Given the description of an element on the screen output the (x, y) to click on. 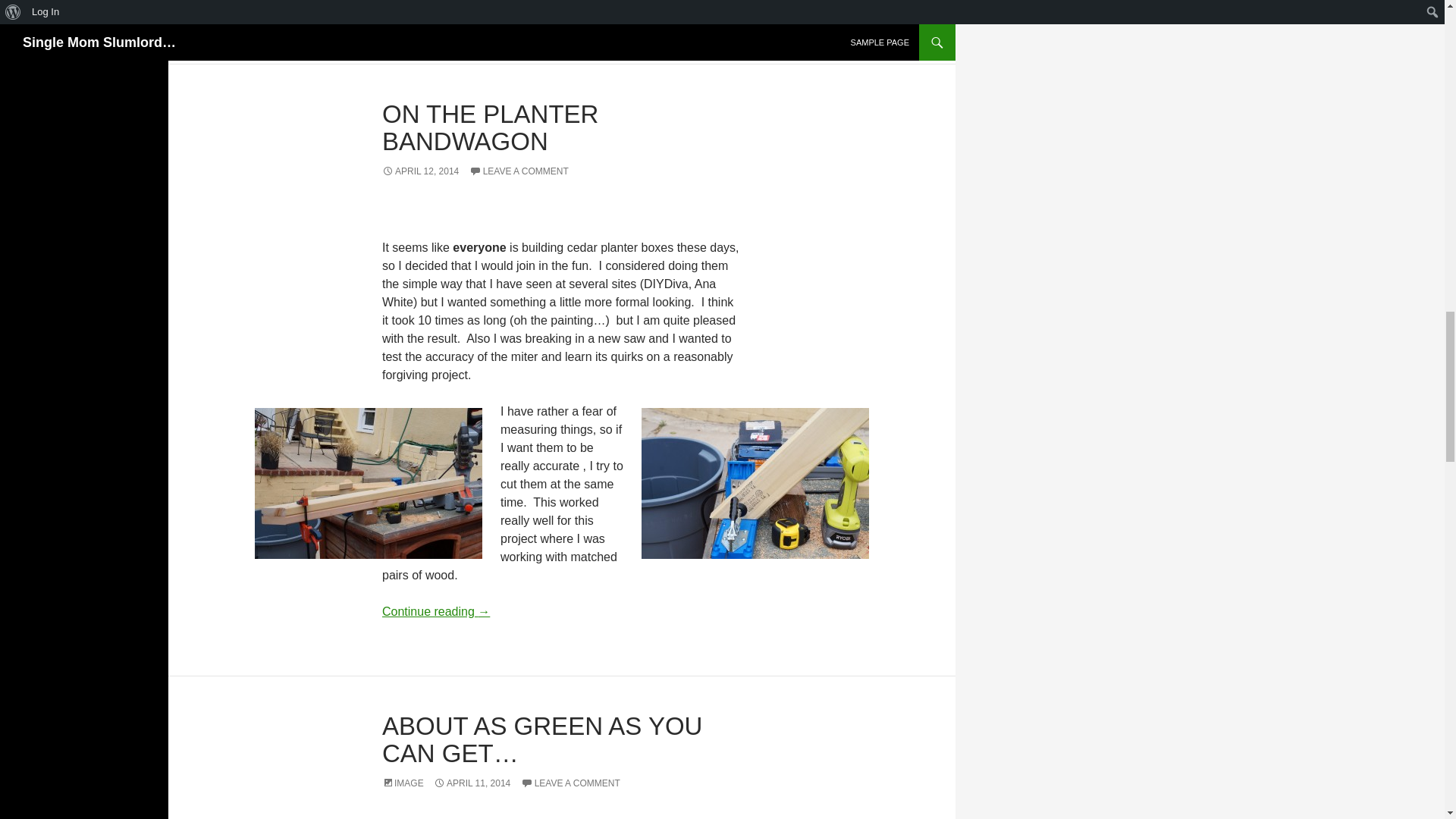
APRIL 12, 2014 (419, 171)
APRIL 11, 2014 (472, 783)
IMAGE (402, 783)
LEAVE A COMMENT (570, 783)
LEAVE A COMMENT (518, 171)
ON THE PLANTER BANDWAGON (489, 127)
